Given the description of an element on the screen output the (x, y) to click on. 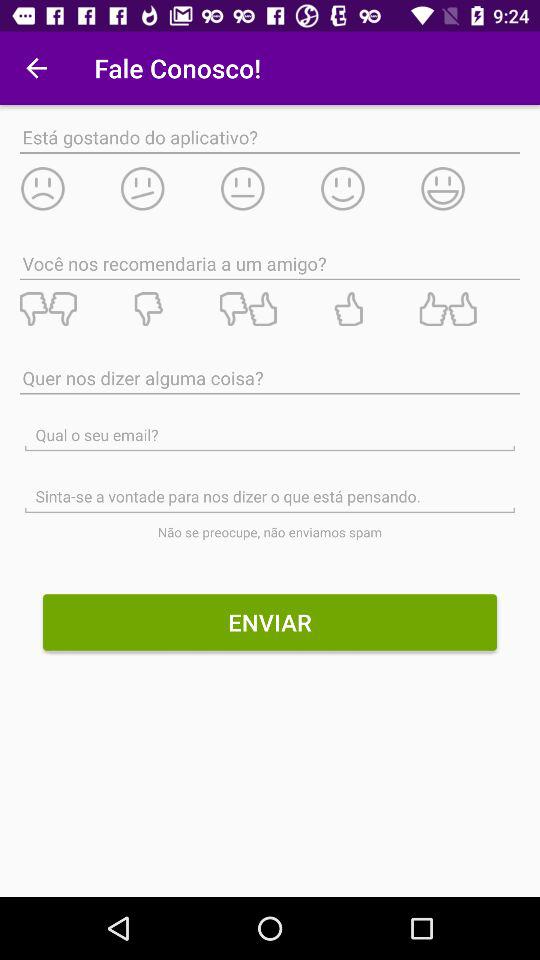
mostly satisfied (369, 188)
